Given the description of an element on the screen output the (x, y) to click on. 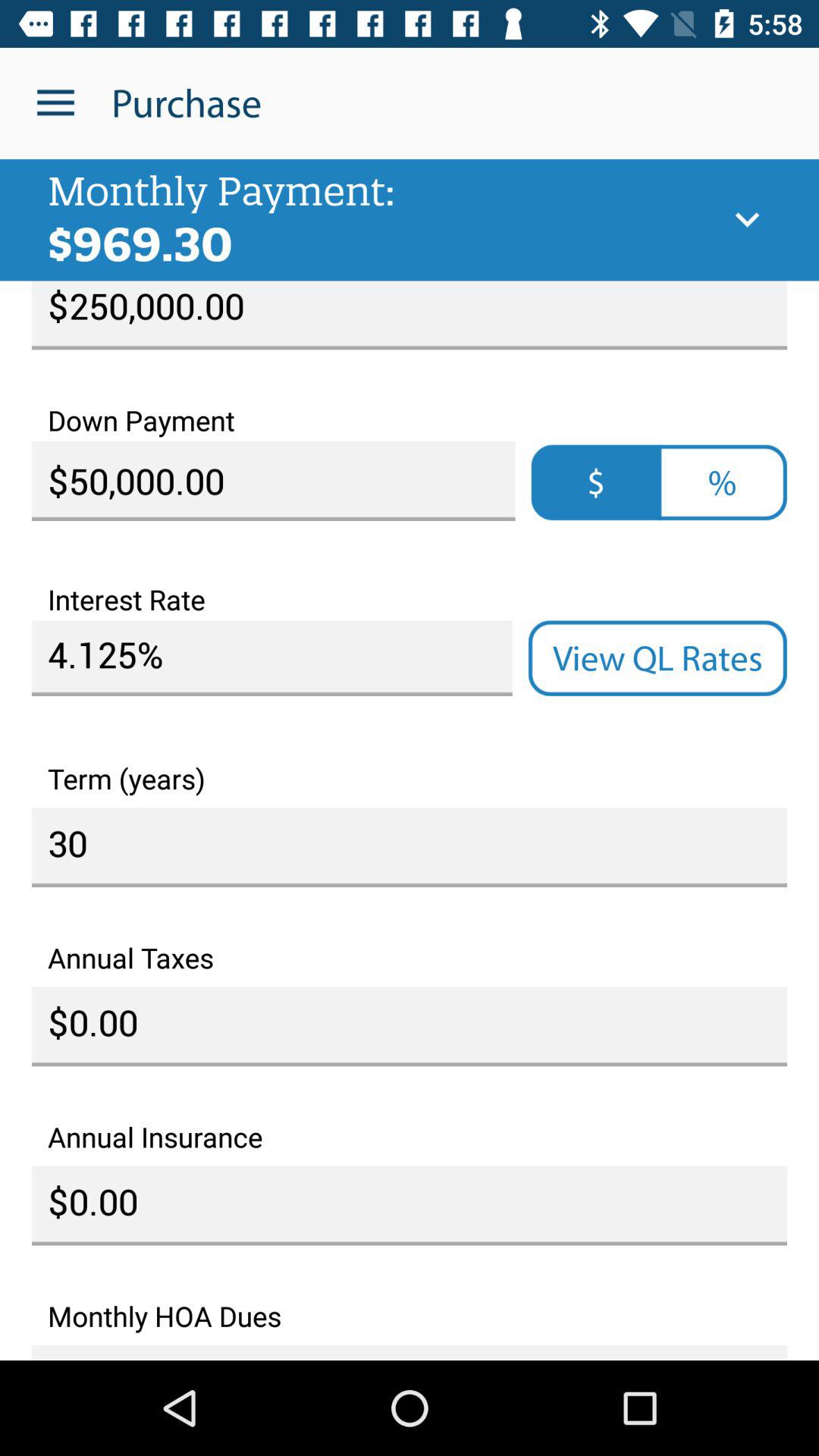
launch the item next to the purchase (55, 103)
